Given the description of an element on the screen output the (x, y) to click on. 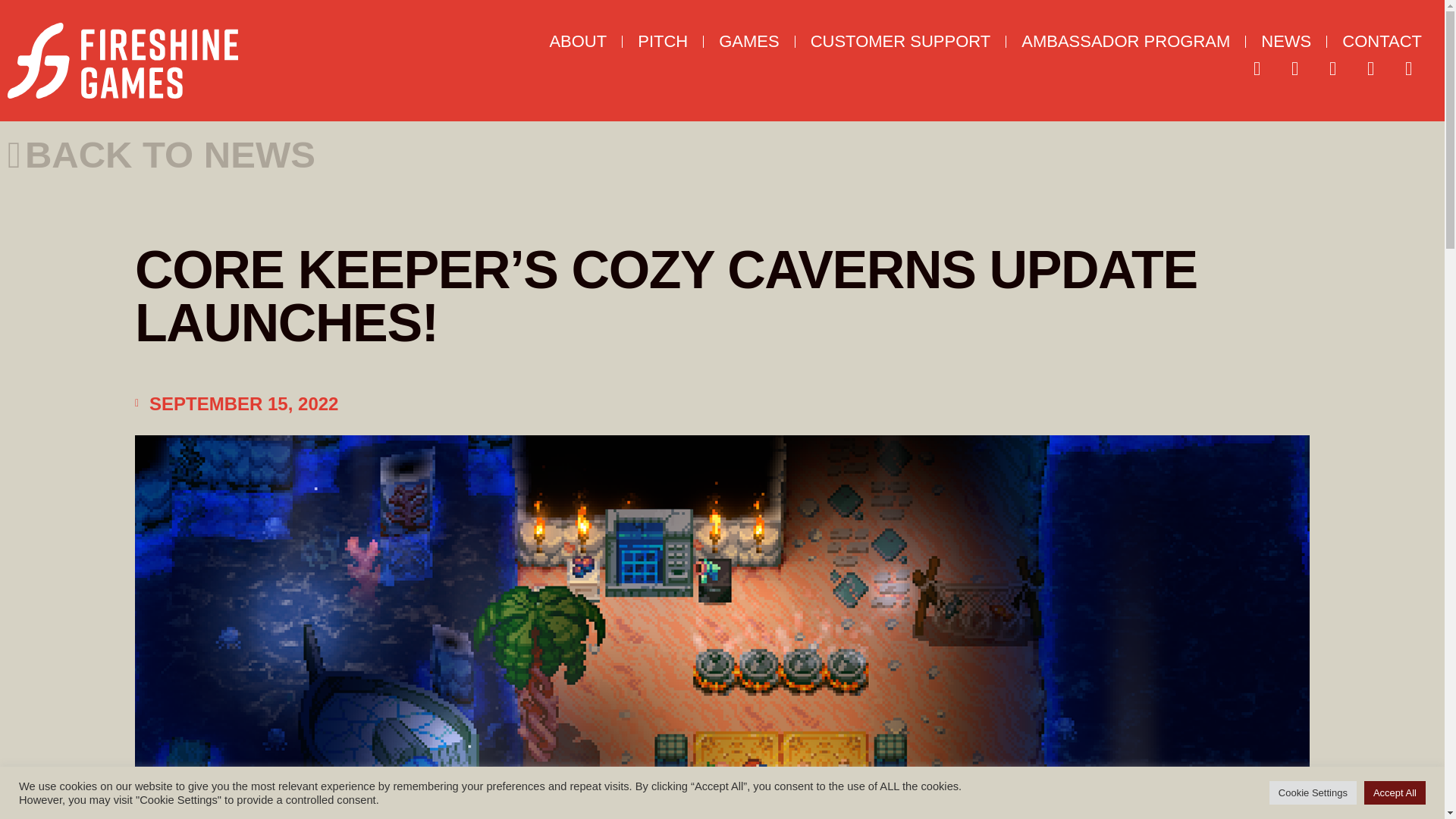
CUSTOMER SUPPORT (900, 41)
NEWS (1286, 41)
ABOUT (577, 41)
SEPTEMBER 15, 2022 (236, 403)
AMBASSADOR PROGRAM (1125, 41)
CONTACT (1381, 41)
BACK TO NEWS (161, 154)
GAMES (748, 41)
PITCH (663, 41)
Fireshine Master White Logo (122, 60)
